Given the description of an element on the screen output the (x, y) to click on. 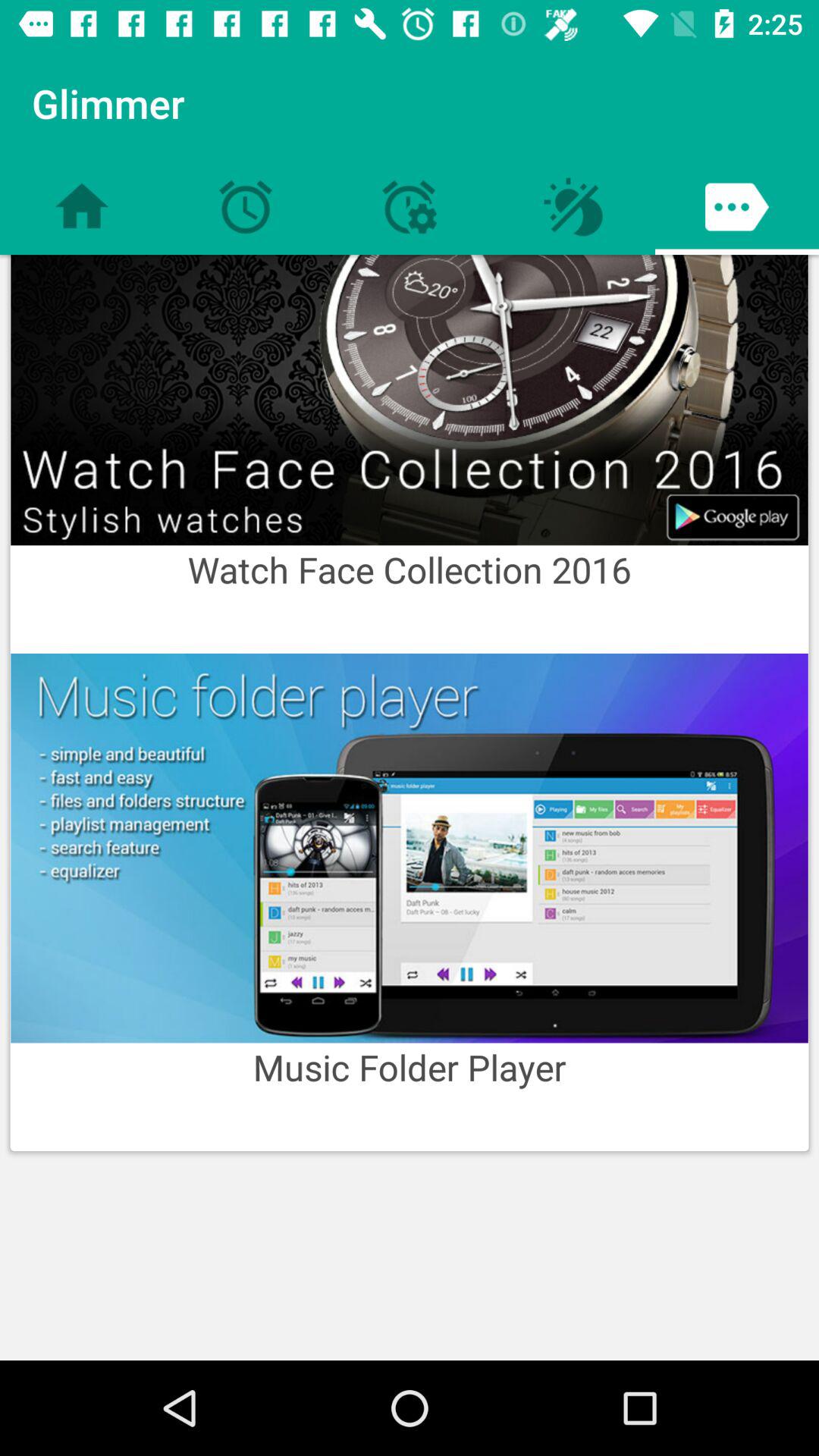
click watches (409, 399)
